Given the description of an element on the screen output the (x, y) to click on. 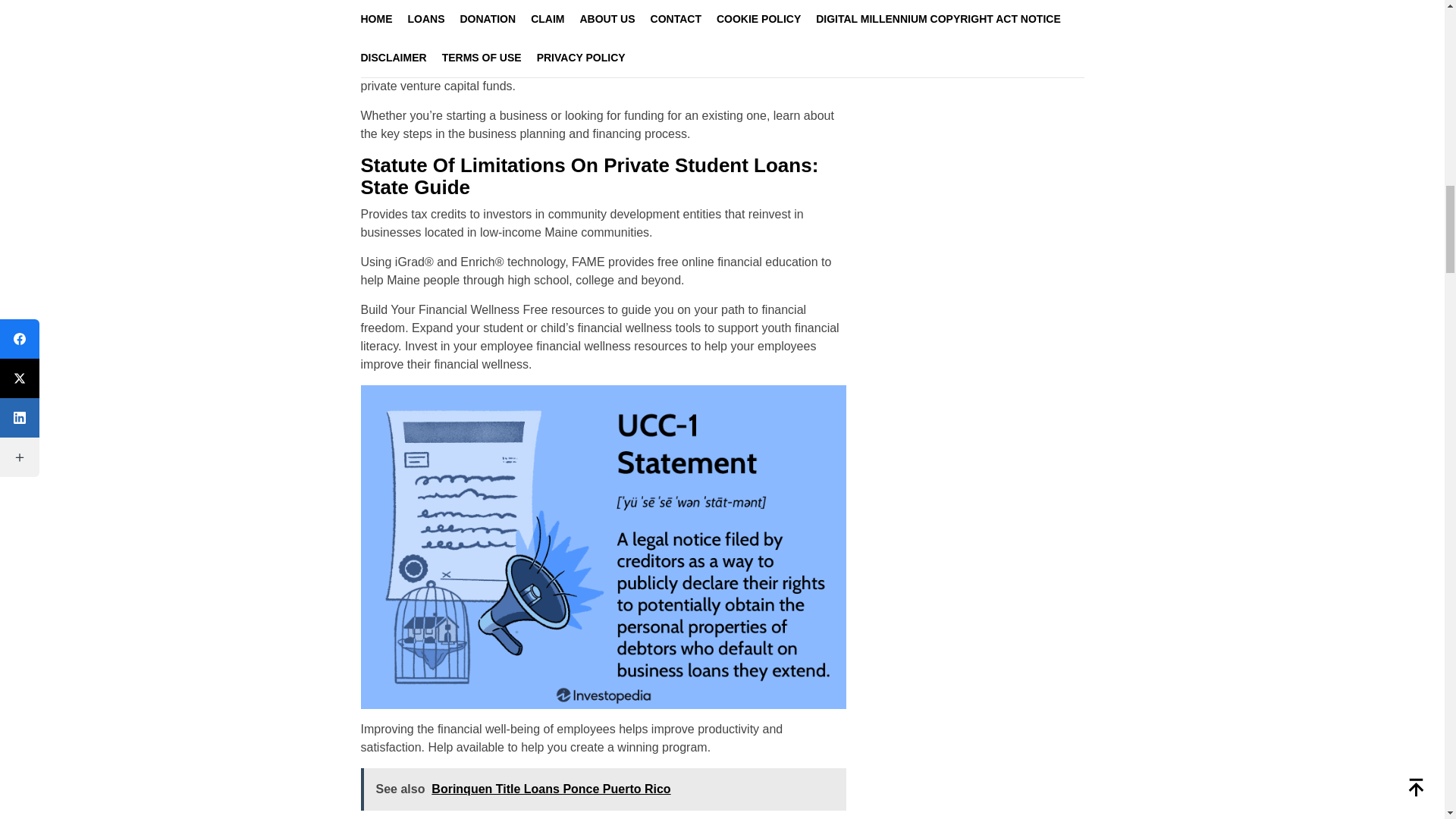
See also  Borinquen Title Loans Ponce Puerto Rico (603, 789)
